Given the description of an element on the screen output the (x, y) to click on. 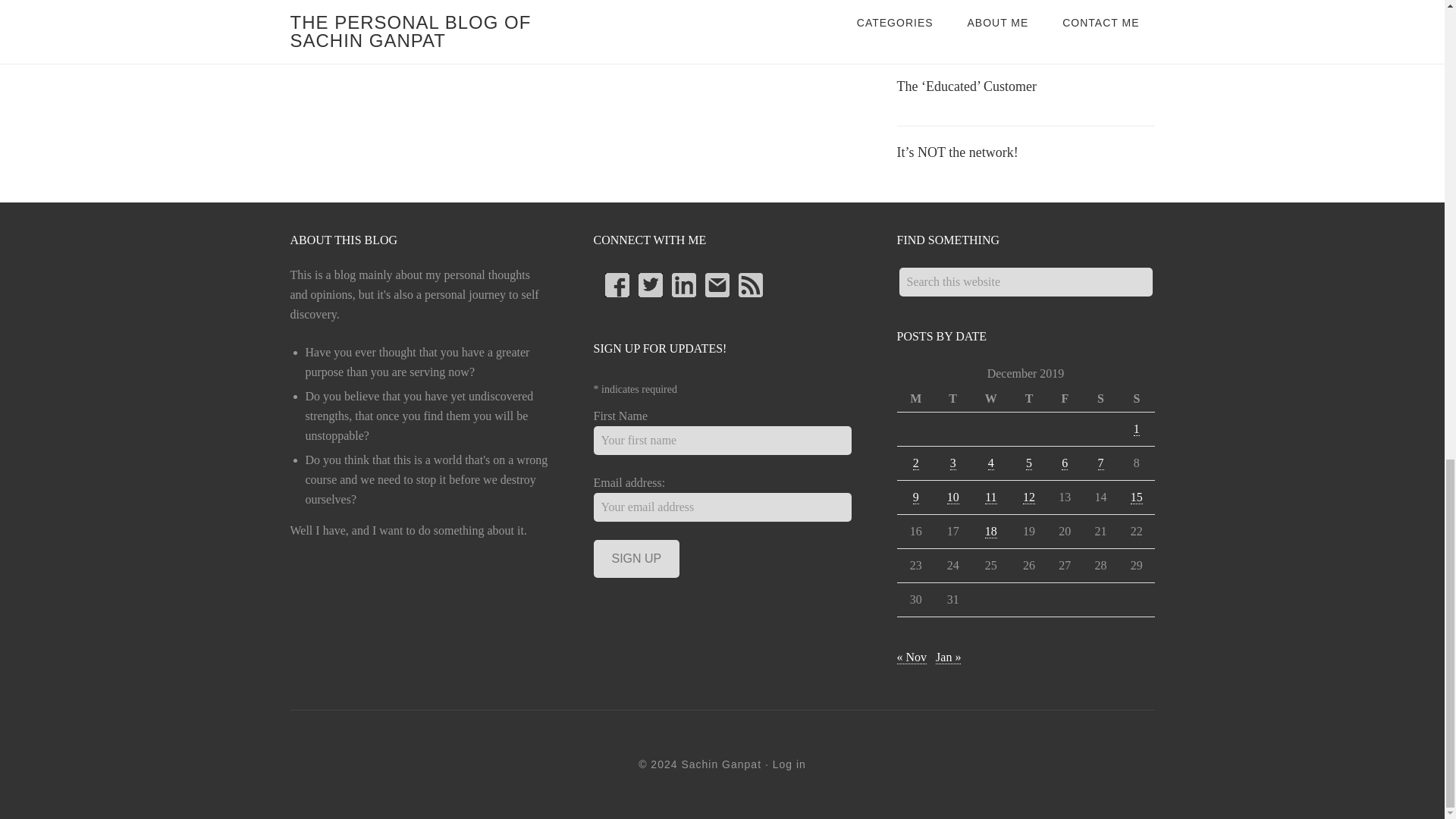
Do we need to change the way we think about Charities? (1022, 14)
Find Me on LinkedIn (683, 284)
Sign up (635, 558)
Subscribe to my RSS Feed (750, 284)
Subscribe to my Facebook Profile (616, 284)
Monday (915, 398)
Tuesday (952, 398)
Odds n' Ends (382, 10)
Sign up (635, 558)
